Given the description of an element on the screen output the (x, y) to click on. 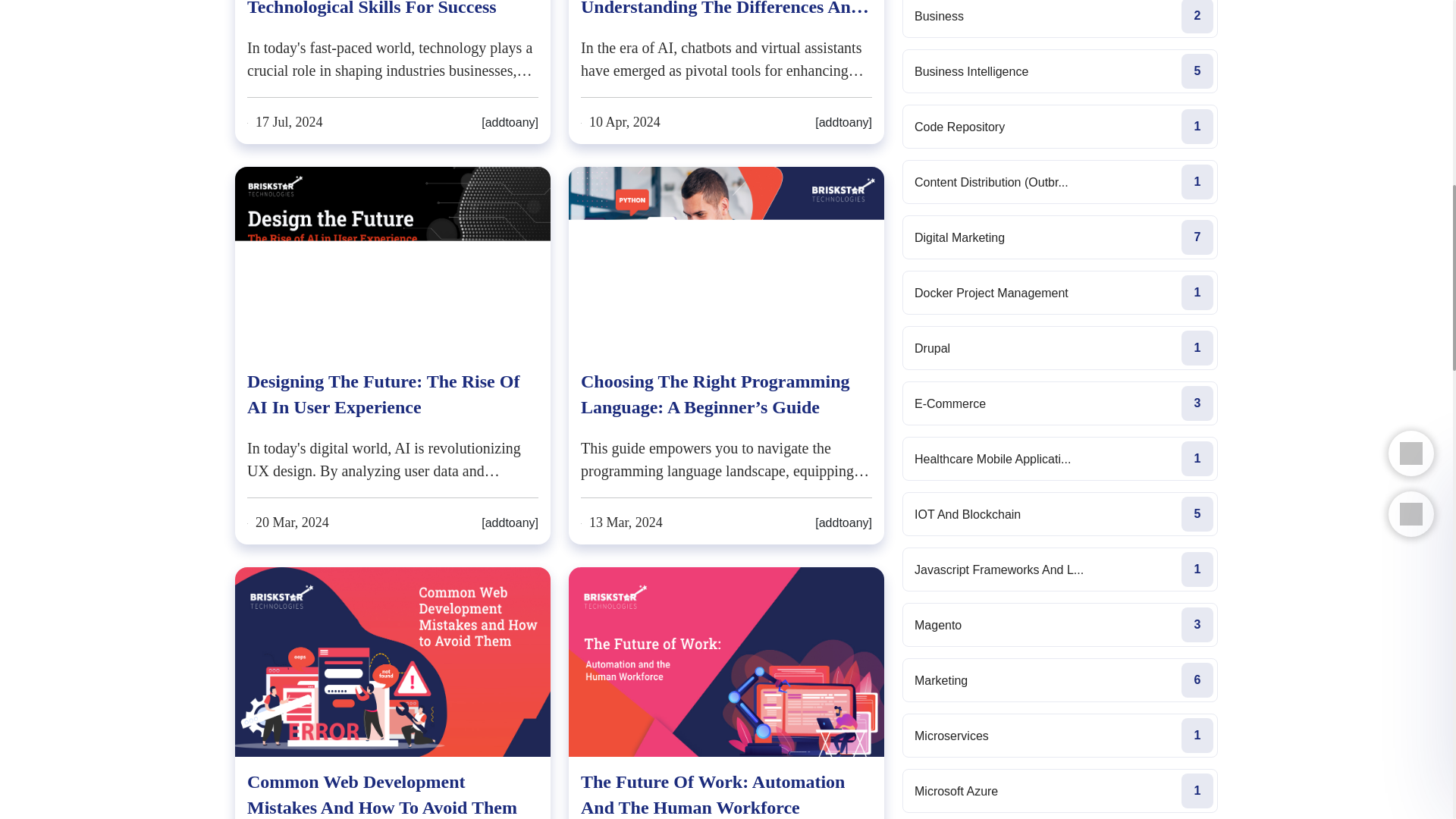
Code Repository (1059, 126)
Marketing (1059, 679)
Magento (1059, 624)
IOT and Blockchain (1059, 514)
E-Commerce (1059, 403)
Business (1059, 18)
Javascript Frameworks and Libraries (1059, 569)
Business Intelligence (1059, 71)
Docker Project Management (1059, 292)
Drupal (1059, 347)
Healthcare Mobile Application Development (1059, 458)
Microservices (1059, 735)
Digital Marketing (1059, 237)
